Given the description of an element on the screen output the (x, y) to click on. 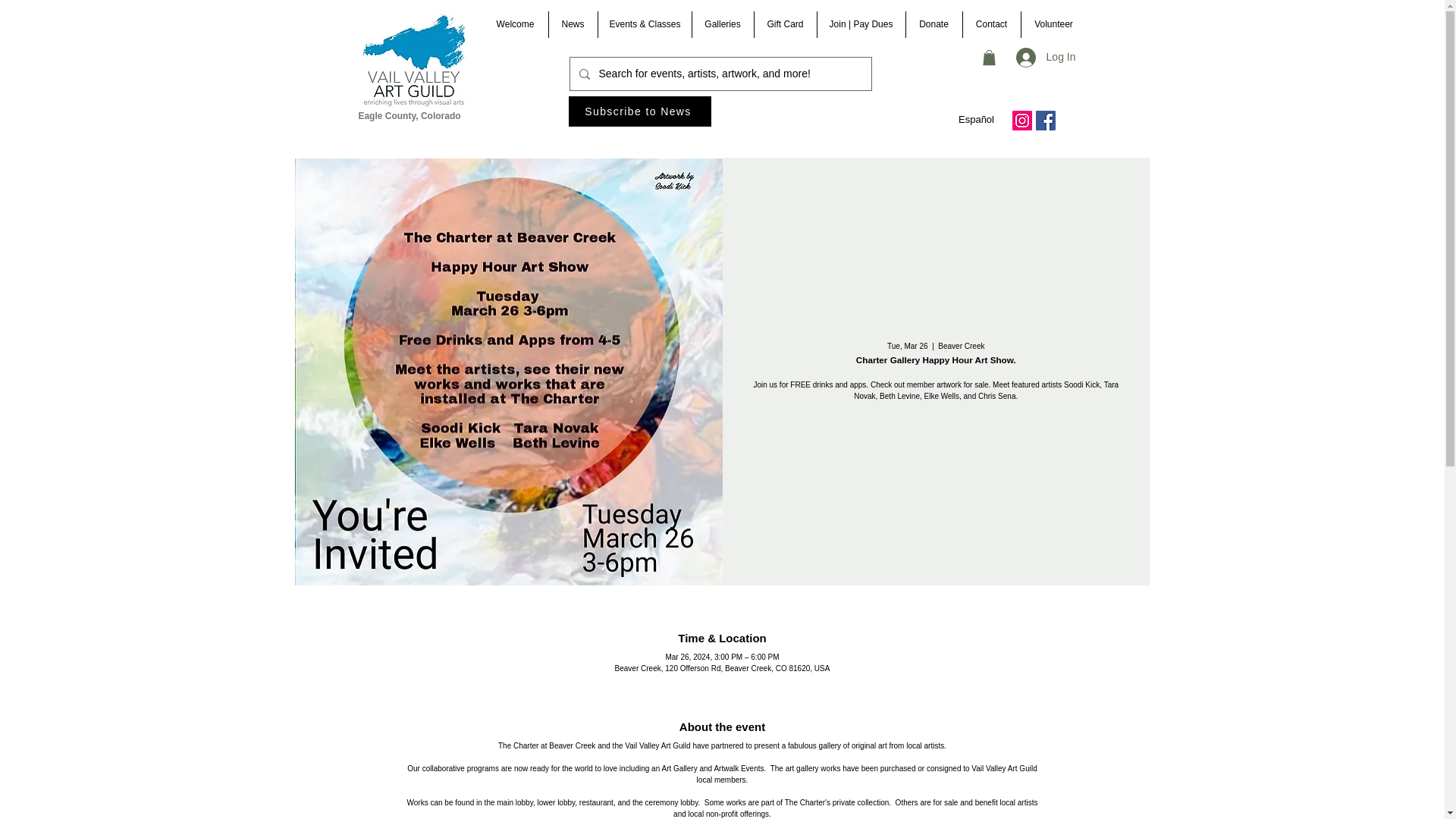
Gift Card (784, 24)
Galleries (721, 24)
Log In (1046, 57)
Donate (932, 24)
Volunteer (1053, 24)
Contact (991, 24)
Subscribe to News (640, 111)
News (572, 24)
Welcome (514, 24)
